Given the description of an element on the screen output the (x, y) to click on. 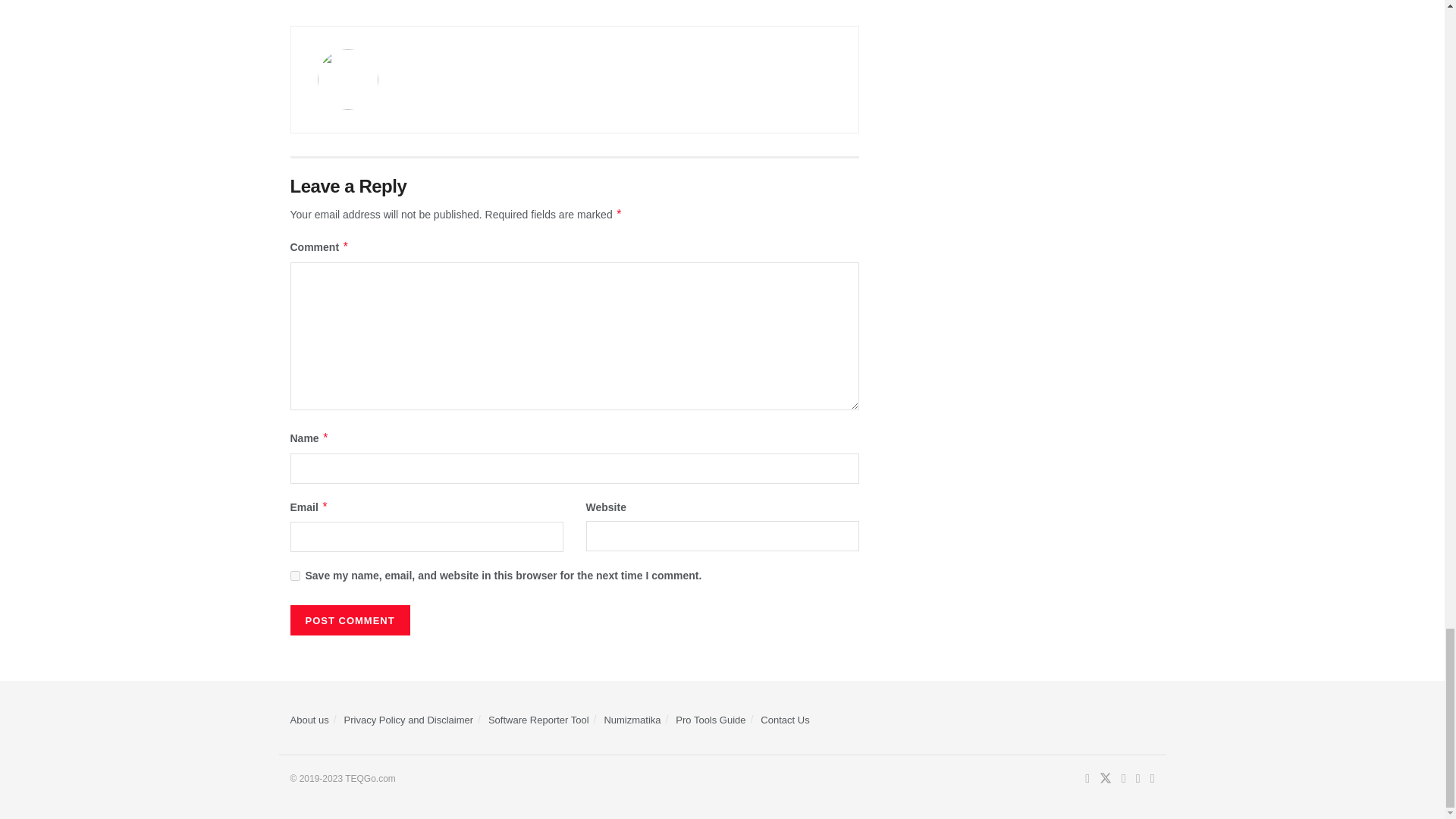
Post Comment (349, 620)
yes (294, 575)
